Given the description of an element on the screen output the (x, y) to click on. 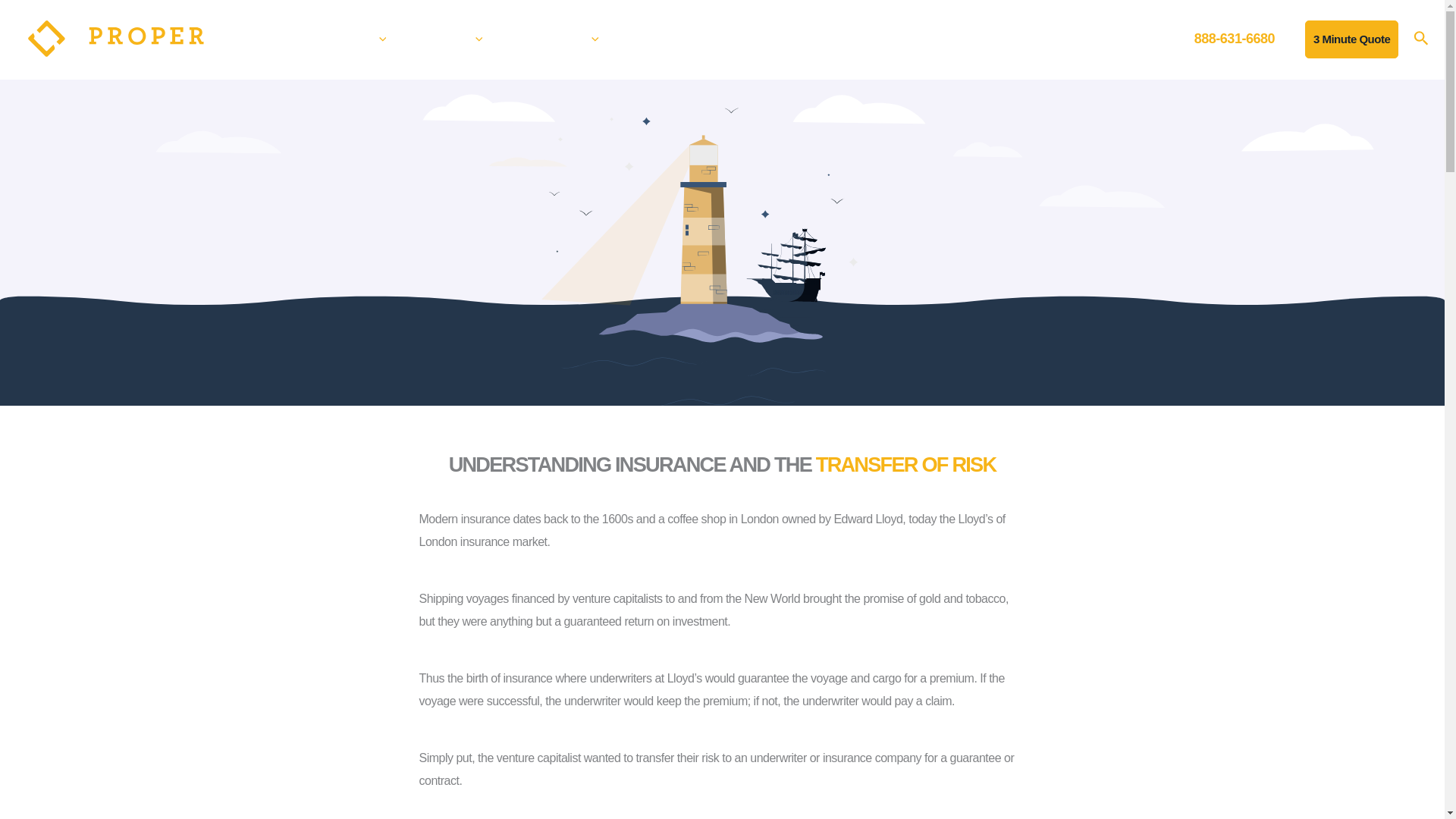
About Us (564, 39)
